Given the description of an element on the screen output the (x, y) to click on. 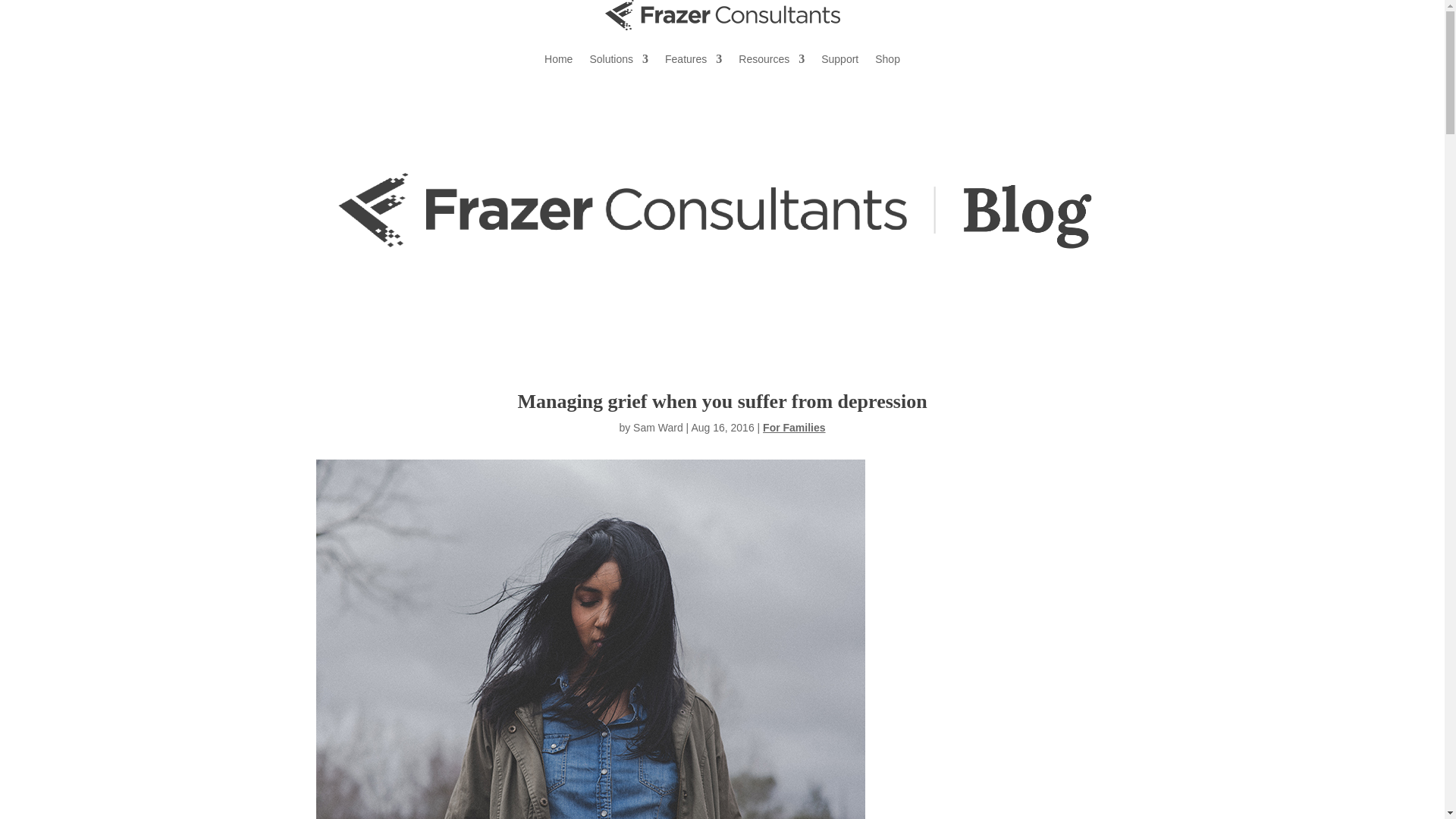
Solutions (618, 58)
Features (693, 58)
Sam Ward (657, 427)
For Families (793, 427)
Resources (771, 58)
Posts by Sam Ward (657, 427)
